Given the description of an element on the screen output the (x, y) to click on. 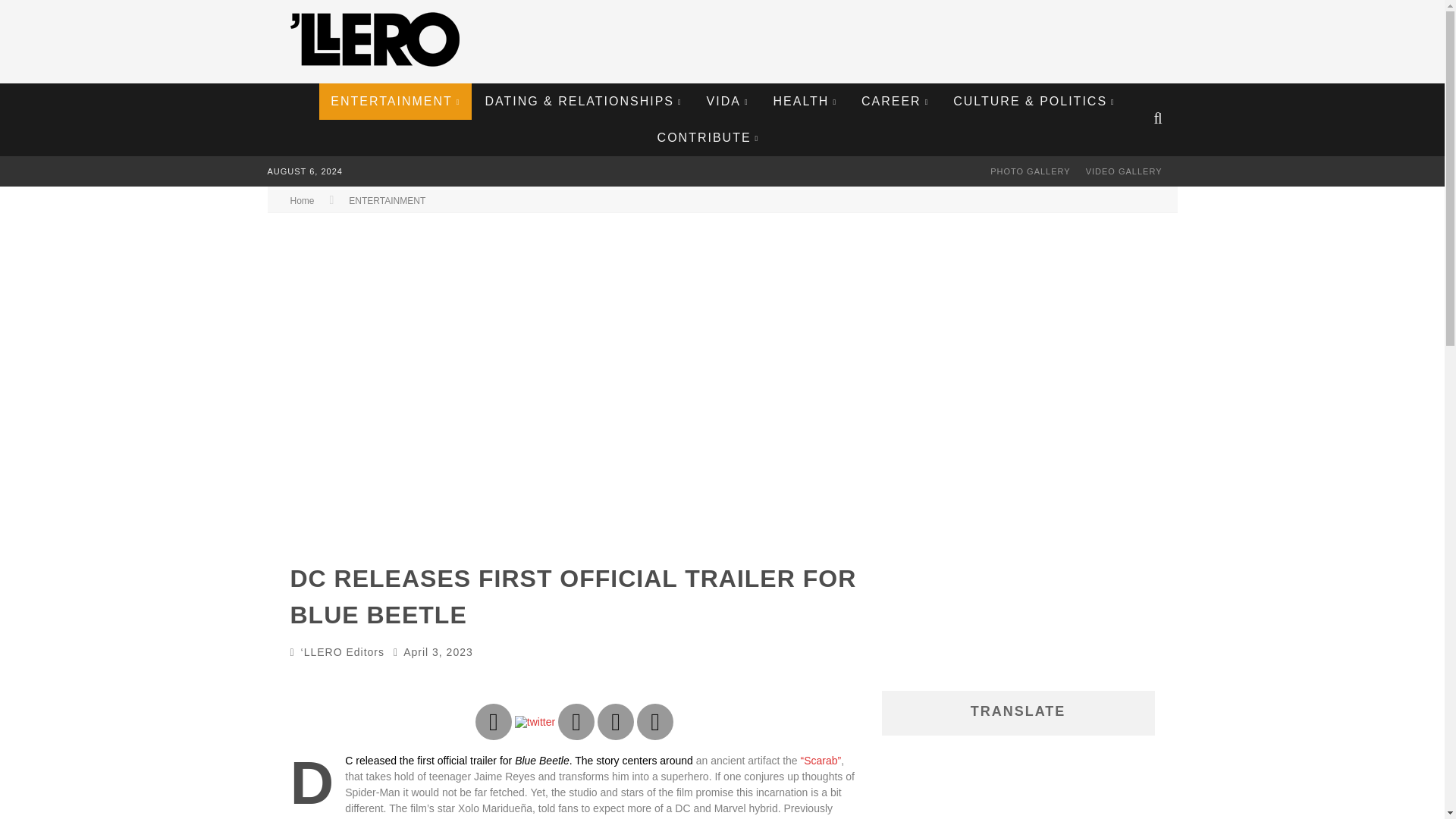
CAREER (895, 101)
Photo Gallery (1030, 171)
CONTRIBUTE (708, 137)
HEALTH (804, 101)
Video Gallery (1124, 171)
